Given the description of an element on the screen output the (x, y) to click on. 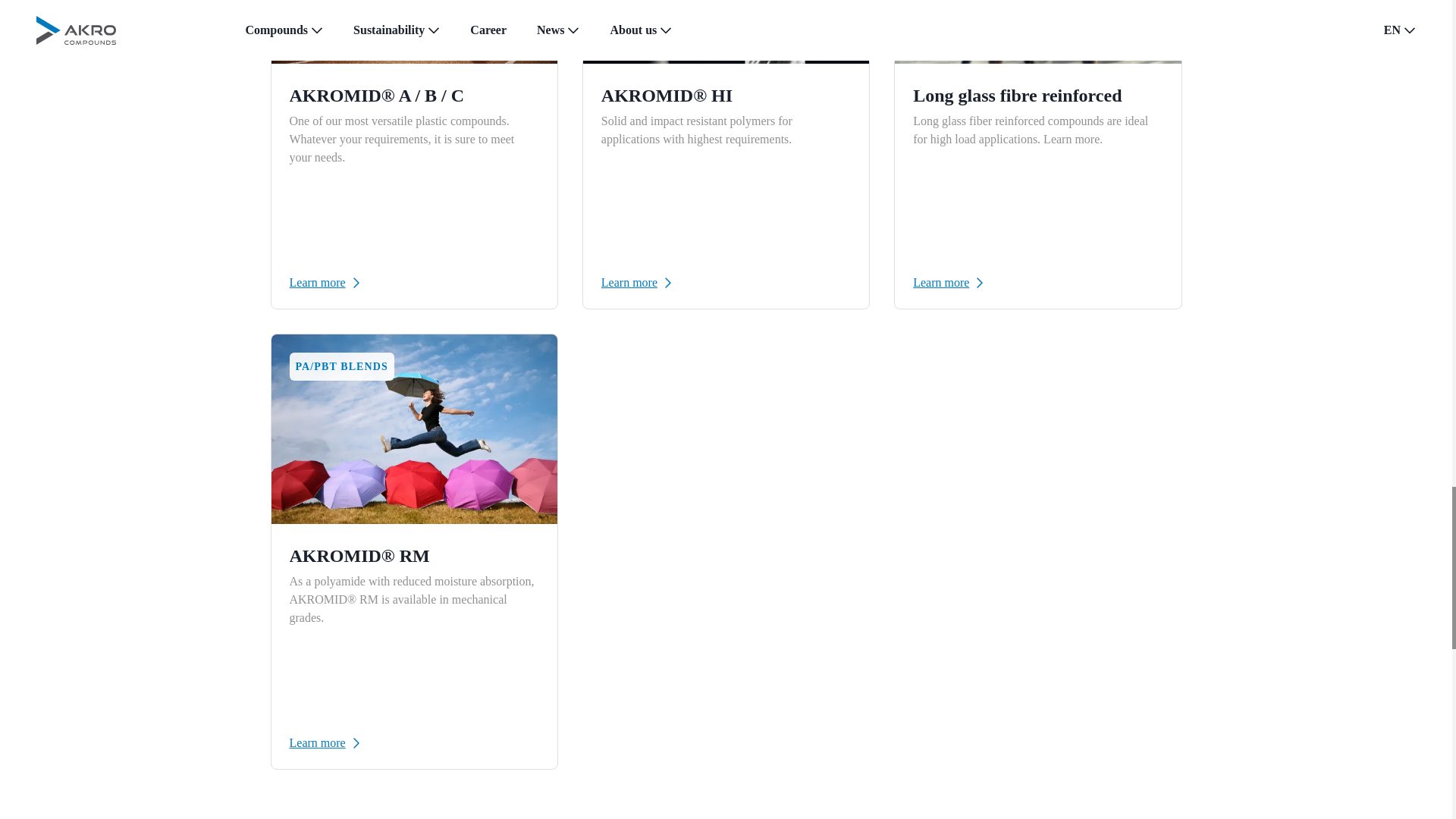
Learn more (413, 282)
Learn more (1036, 282)
Learn more (413, 742)
Learn more (725, 282)
